Given the description of an element on the screen output the (x, y) to click on. 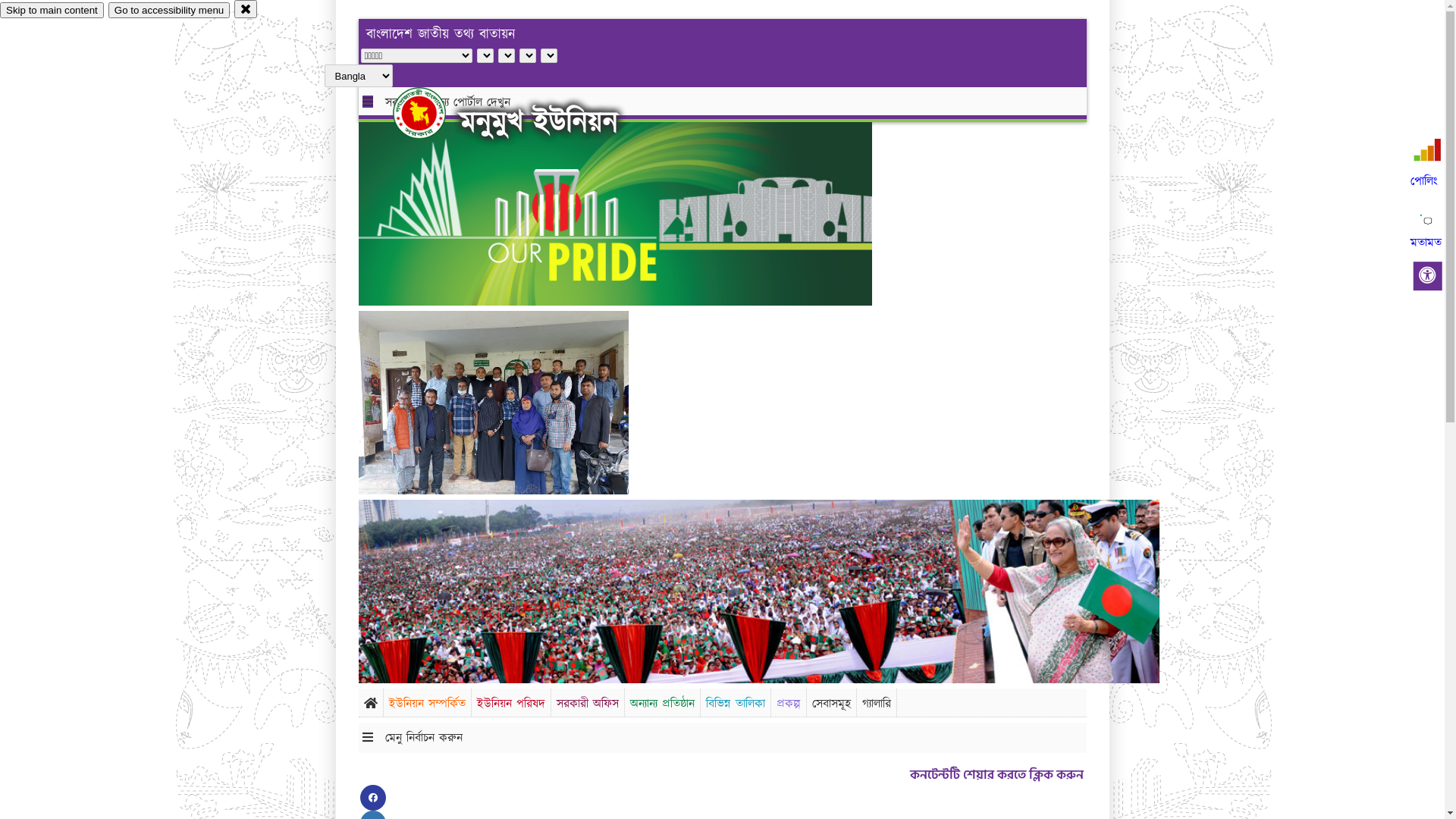
Go to accessibility menu Element type: text (168, 10)
Skip to main content Element type: text (51, 10)
close Element type: hover (245, 9)

                
             Element type: hover (431, 112)
